Given the description of an element on the screen output the (x, y) to click on. 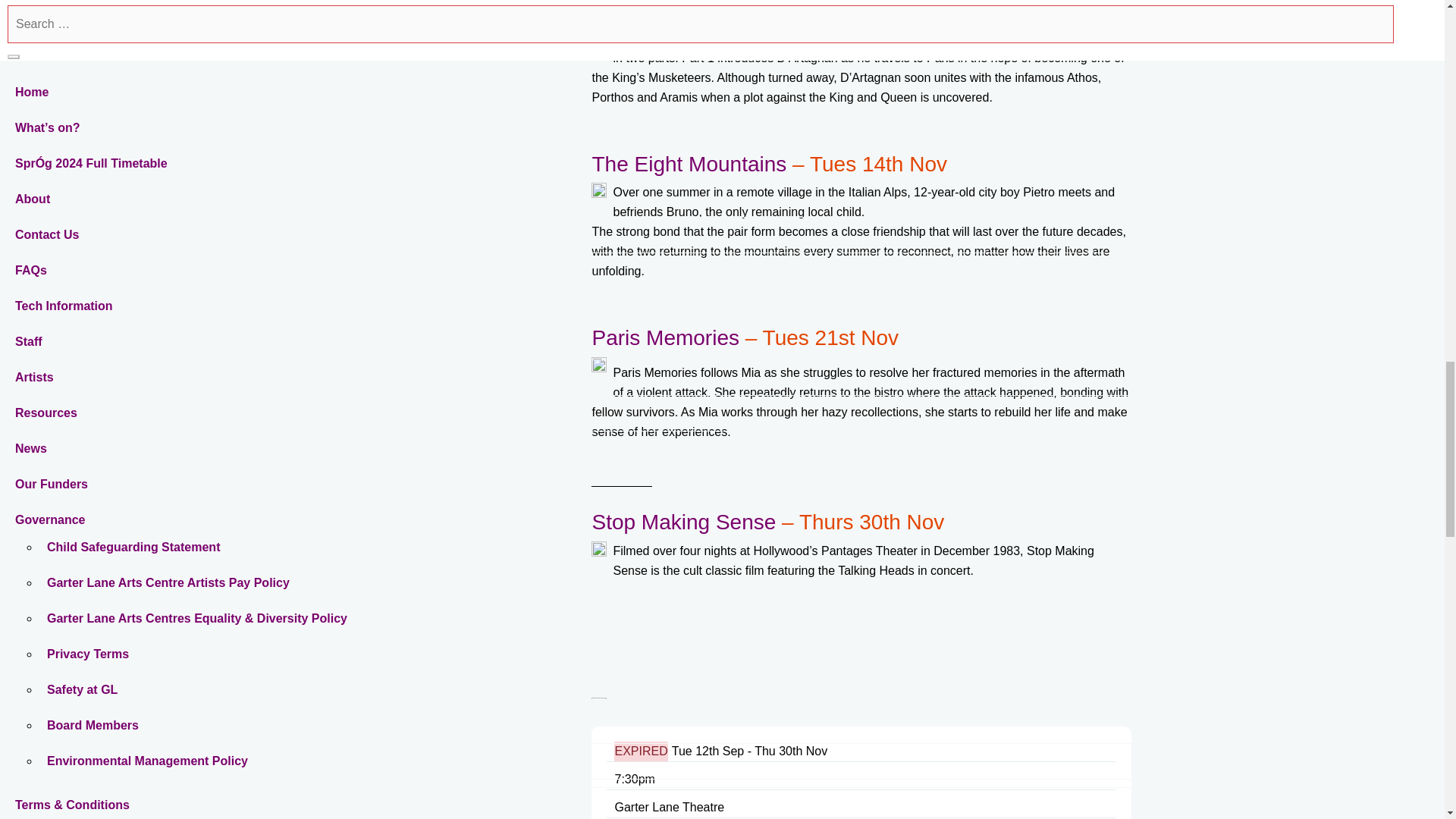
Paris Memories (664, 337)
The Eight Mountains (688, 164)
Stop Making Sense (683, 521)
